Given the description of an element on the screen output the (x, y) to click on. 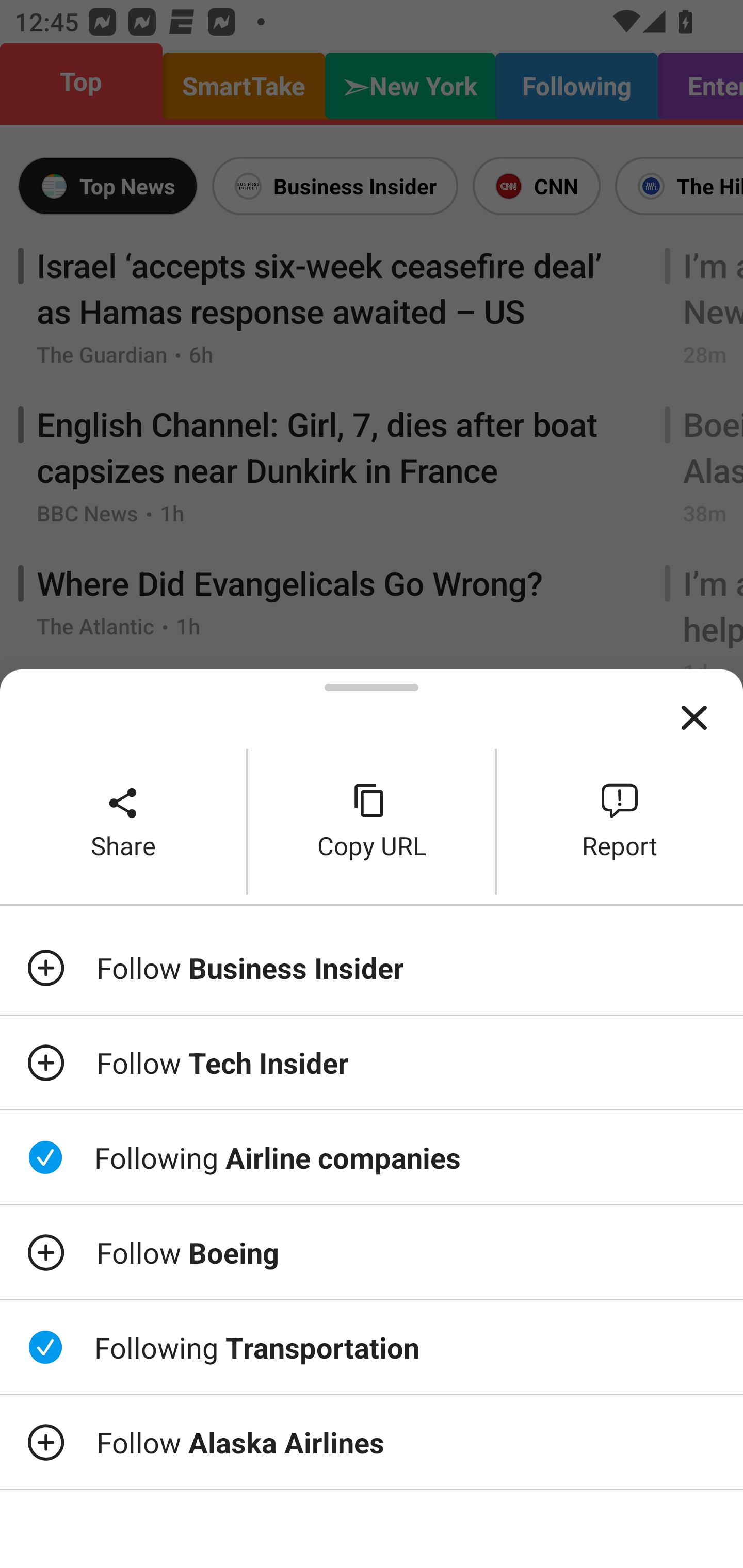
Close (694, 717)
Share (122, 822)
Copy URL (371, 822)
Report (620, 822)
Follow Business Insider (371, 967)
Follow Tech Insider (371, 1063)
Following Airline companies (371, 1157)
Follow Boeing (371, 1252)
Following Transportation (371, 1346)
Follow Alaska Airlines (371, 1442)
